Given the description of an element on the screen output the (x, y) to click on. 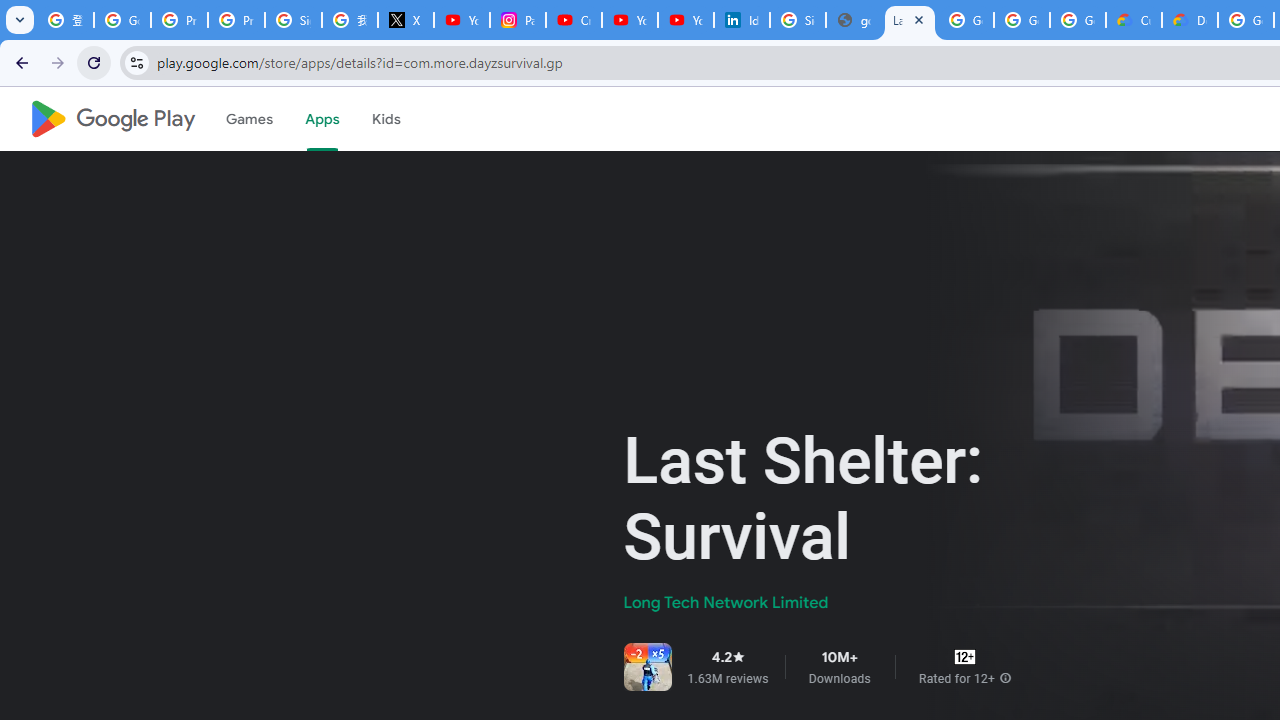
YouTube Content Monetization Policies - How YouTube Works (461, 20)
Privacy Help Center - Policies Help (179, 20)
Long Tech Network Limited (726, 602)
Content rating (964, 656)
Last Shelter: Survival - Apps on Google Play (909, 20)
More info about this content rating (1005, 678)
